Given the description of an element on the screen output the (x, y) to click on. 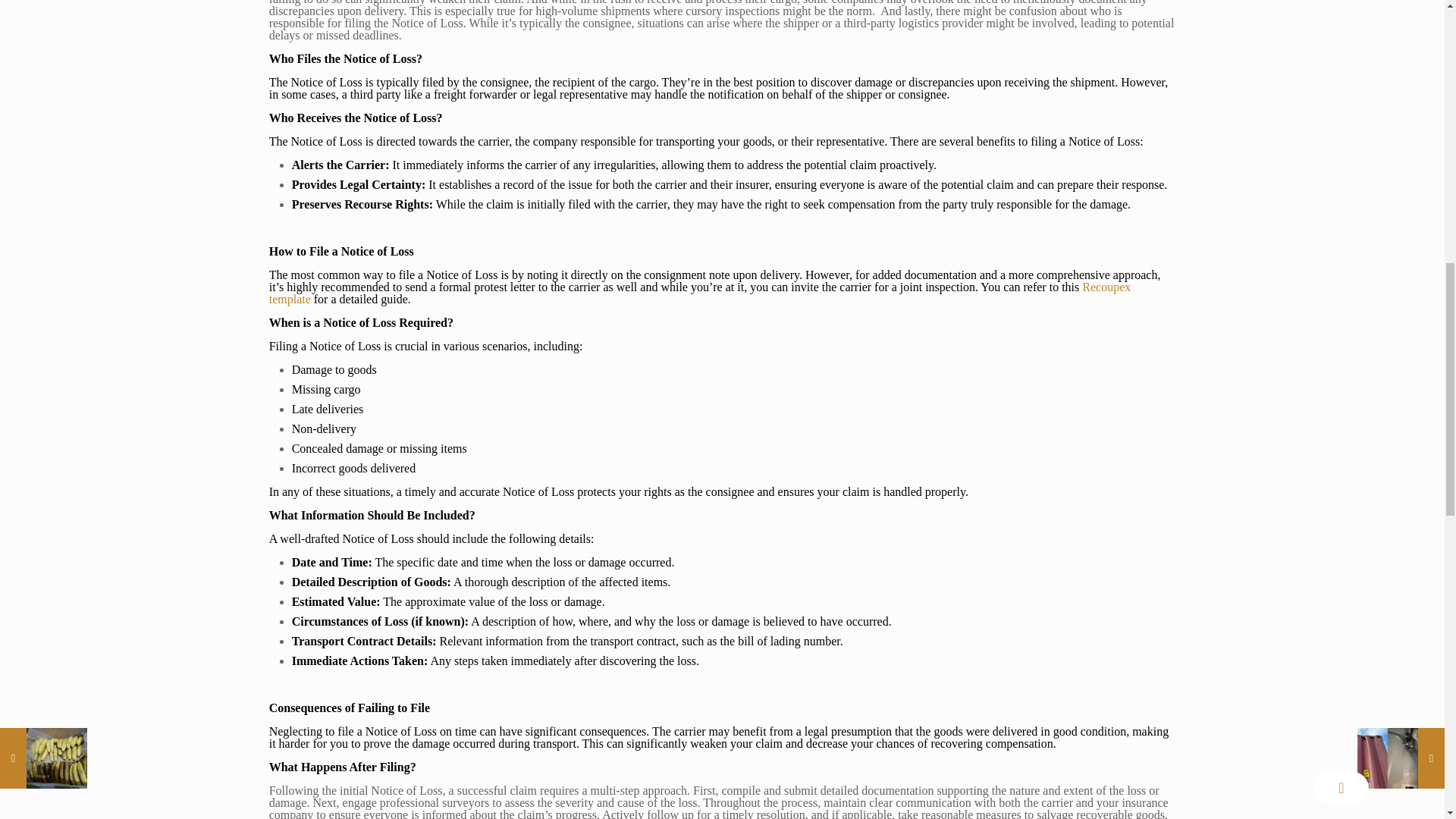
Recoupex template (700, 292)
